Given the description of an element on the screen output the (x, y) to click on. 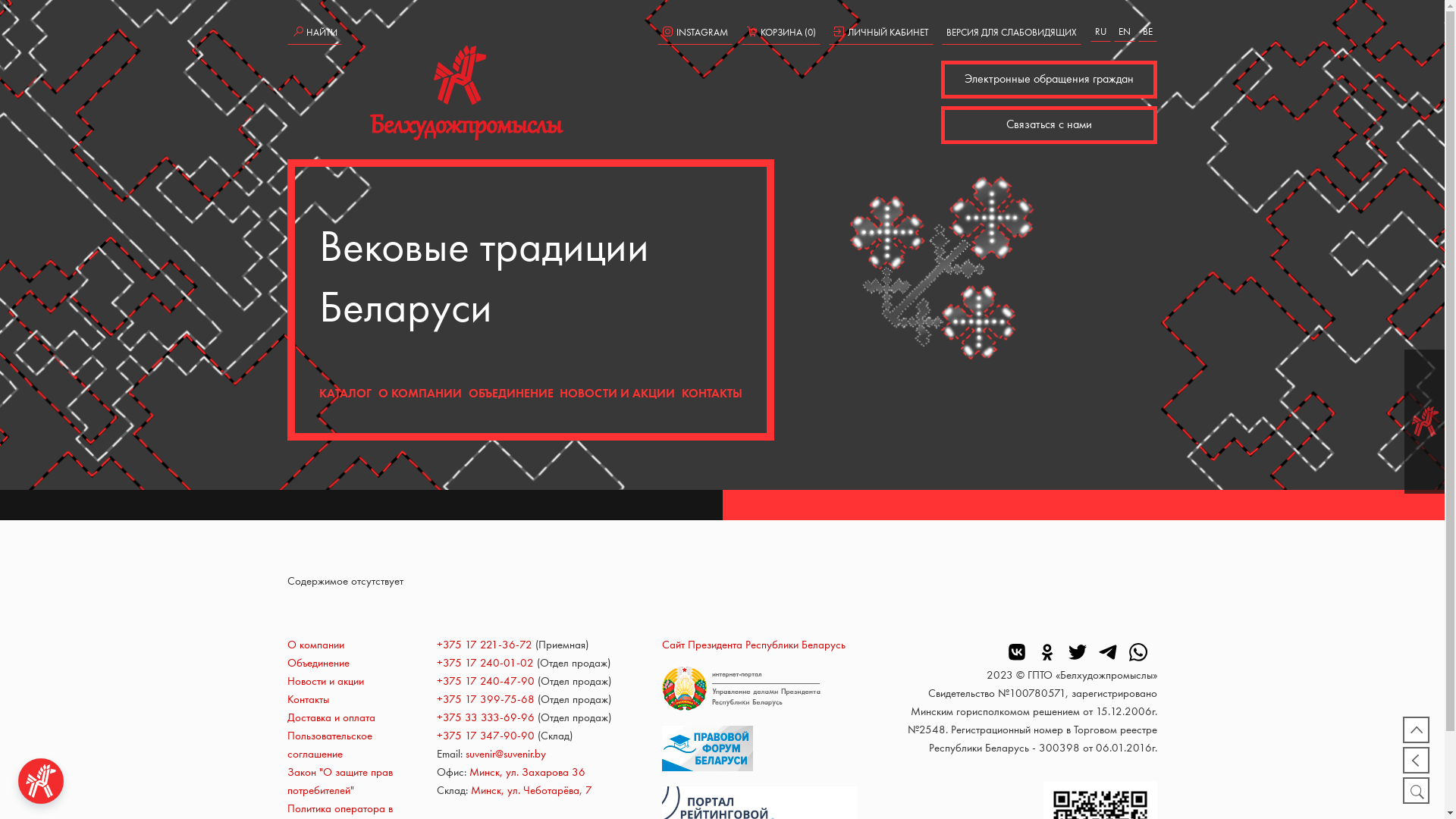
+375 17 221-36-72 Element type: text (484, 645)
+375 33 333-69-96 Element type: text (485, 718)
INSTAGRAM Element type: text (694, 33)
+375 17 240-01-02 Element type: text (484, 663)
+375 17 347-90-90 Element type: text (485, 736)
RU Element type: text (1100, 31)
EN Element type: text (1124, 31)
+375 17 399-75-68 Element type: text (485, 700)
suvenir@suvenir.by Element type: text (505, 754)
+375 17 240-47-90 Element type: text (485, 681)
BE Element type: text (1147, 31)
